Given the description of an element on the screen output the (x, y) to click on. 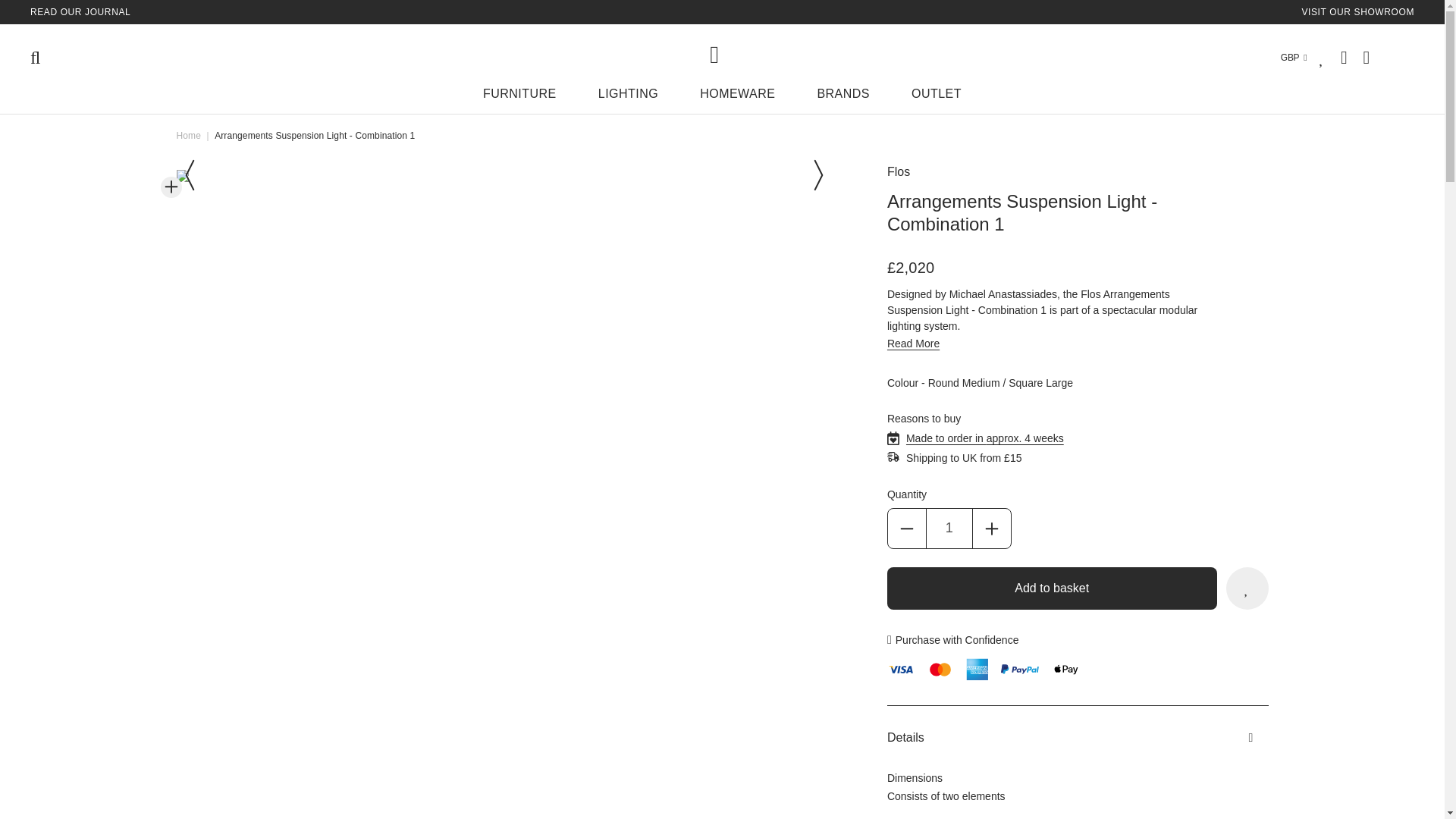
READ OUR JOURNAL (80, 11)
GBP (1285, 57)
FURNITURE (519, 97)
1 (949, 528)
VISIT OUR SHOWROOM (1357, 11)
Made to order in approx. 4 weeks (984, 438)
